Given the description of an element on the screen output the (x, y) to click on. 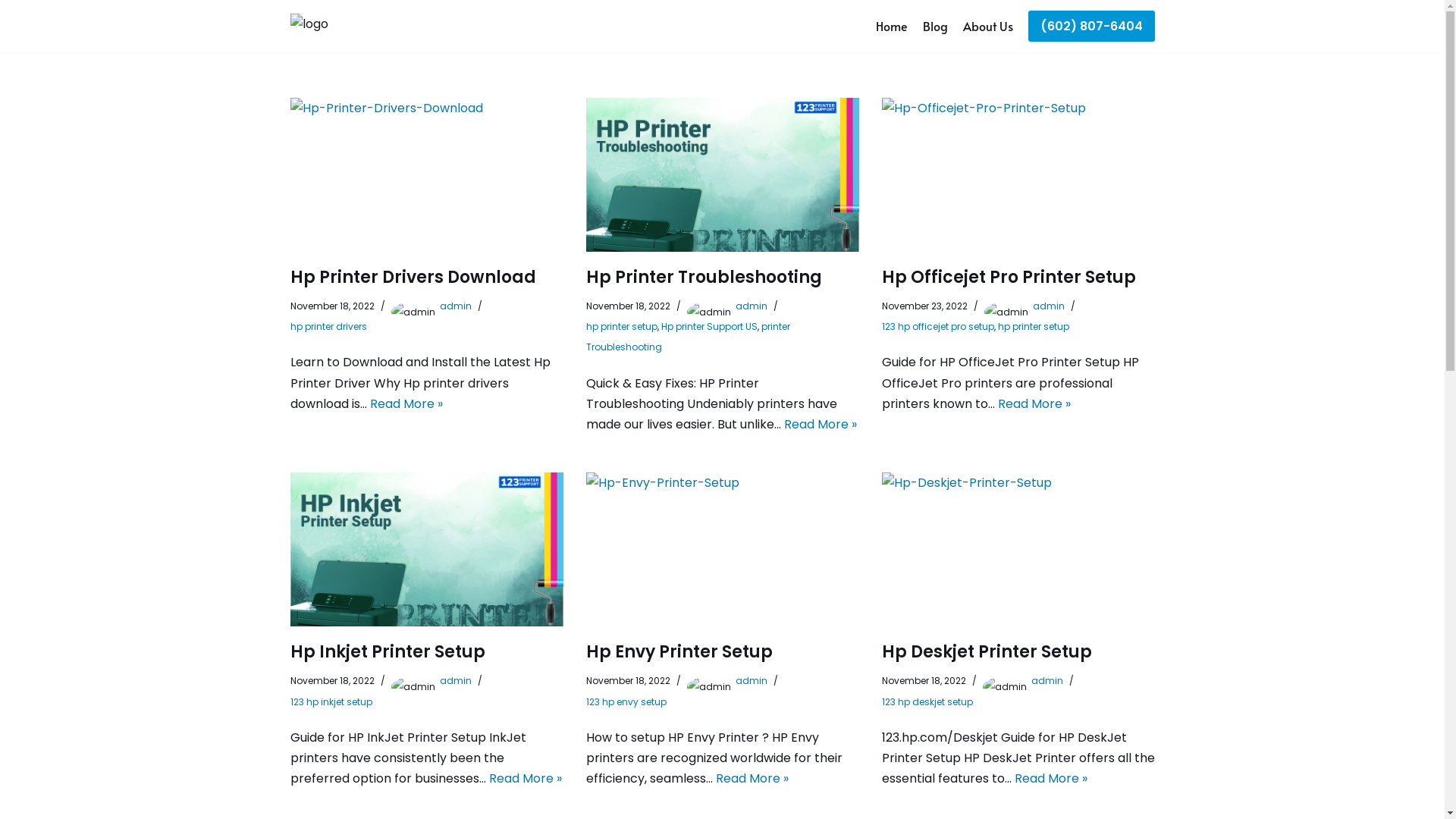
Hp Printer Troubleshooting Element type: hover (721, 174)
Hp Deskjet Printer Setup Element type: text (986, 651)
hp printer setup Element type: text (1033, 326)
Hp Officejet Pro Printer Setup Element type: hover (1017, 174)
Hp Envy Printer Setup Element type: text (678, 651)
Home Element type: text (890, 26)
admin Element type: text (1048, 305)
Skip to content Element type: text (11, 31)
About Us Element type: text (988, 26)
admin Element type: text (1047, 680)
admin Element type: text (455, 305)
123 hp inkjet setup Element type: text (330, 700)
Hp Envy Printer Setup Element type: hover (721, 549)
Hp Officejet Pro Printer Setup Element type: text (1008, 276)
Hp Printer Drivers Download Element type: hover (425, 174)
123 hp officejet pro setup Element type: text (937, 326)
123 hp deskjet setup Element type: text (926, 700)
hp printer setup Element type: text (620, 326)
Blog Element type: text (934, 26)
123 hp envy setup Element type: text (625, 700)
Hp Printer Troubleshooting Element type: text (703, 276)
Hp Inkjet Printer Setup Element type: hover (425, 549)
hp printer drivers Element type: text (327, 326)
admin Element type: text (455, 680)
admin Element type: text (751, 305)
admin Element type: text (751, 680)
Hp Inkjet Printer Setup Element type: text (386, 651)
Hp Printer Drivers Download Element type: text (412, 276)
printer Troubleshooting Element type: text (687, 336)
(602) 807-6404 Element type: text (1091, 26)
Hp123printersupport Element type: hover (338, 25)
Hp Deskjet Printer Setup Element type: hover (1017, 549)
Hp printer Support US Element type: text (709, 326)
